Given the description of an element on the screen output the (x, y) to click on. 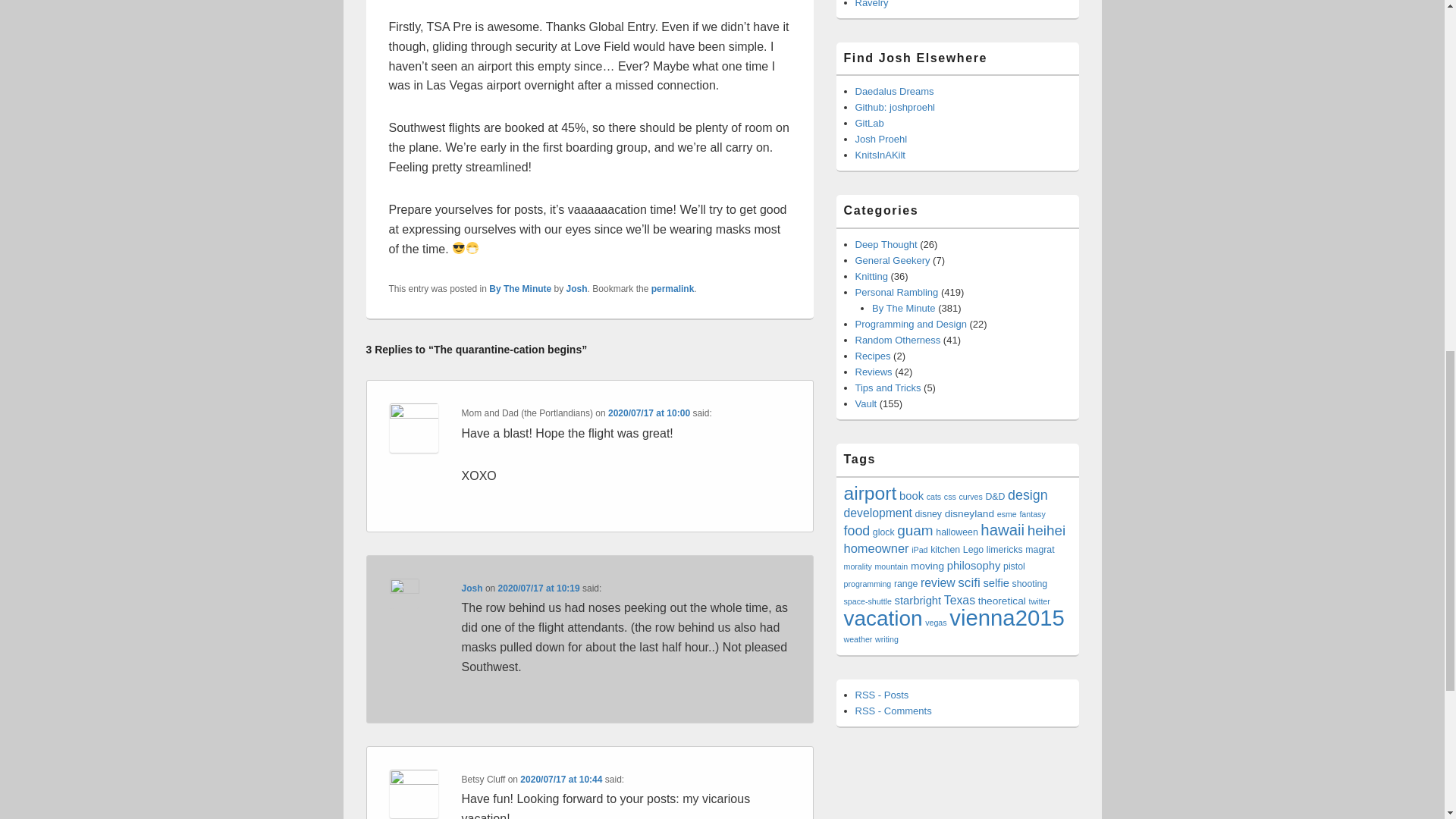
Subscribe to posts (882, 695)
Reviews (874, 371)
Tips and Tricks (888, 387)
book (911, 495)
Deep Thought (886, 244)
Programming and Design (911, 324)
Subscribe to comments (893, 710)
curves (969, 496)
By The Minute (904, 307)
cats (934, 496)
Daedalus Dreams (895, 91)
Personal Rambling (897, 292)
airport (869, 493)
GitLab (869, 122)
Josh (472, 588)
